Given the description of an element on the screen output the (x, y) to click on. 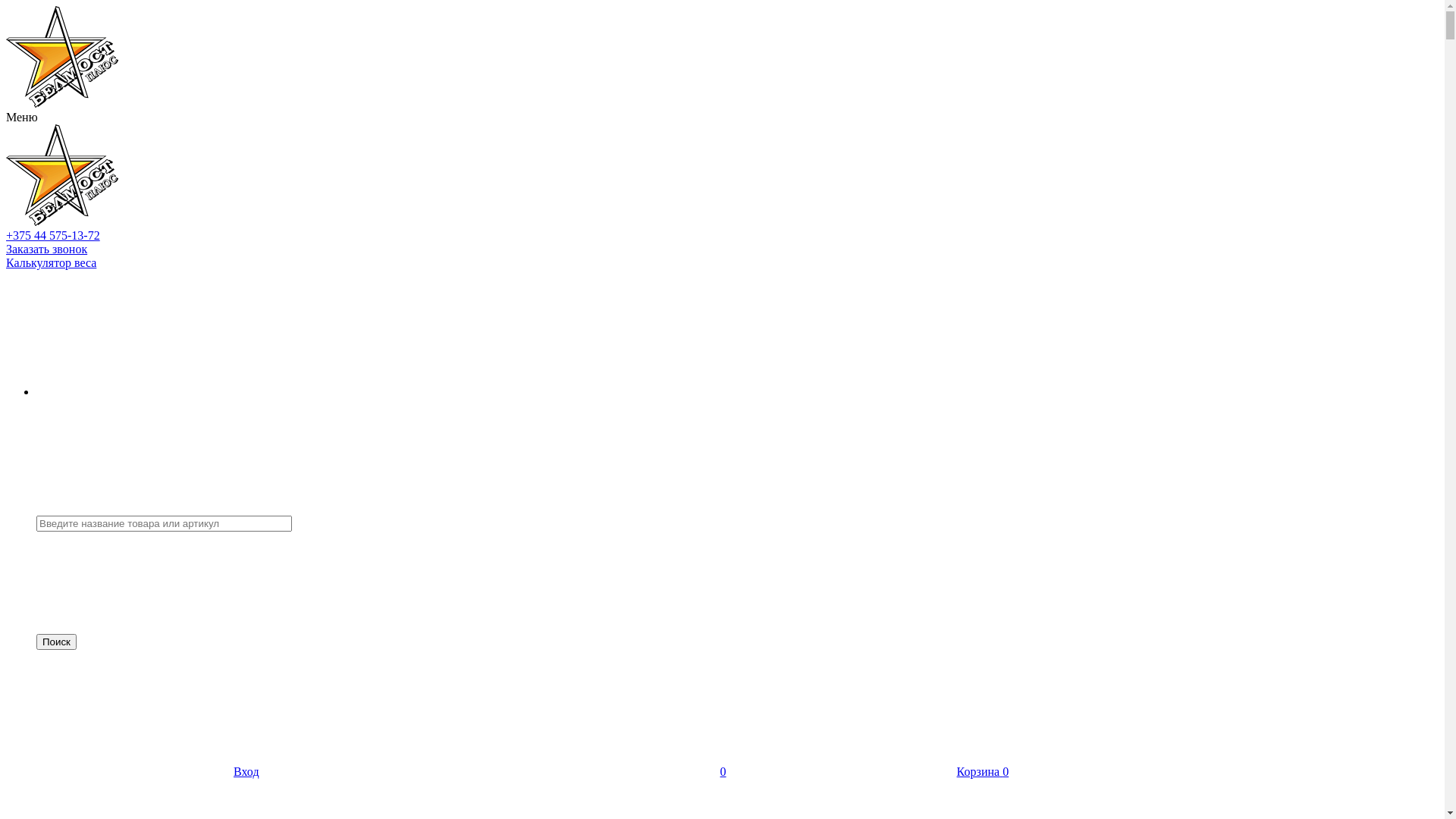
0 Element type: text (609, 771)
+375 44 575-13-72 Element type: text (53, 235)
